Given the description of an element on the screen output the (x, y) to click on. 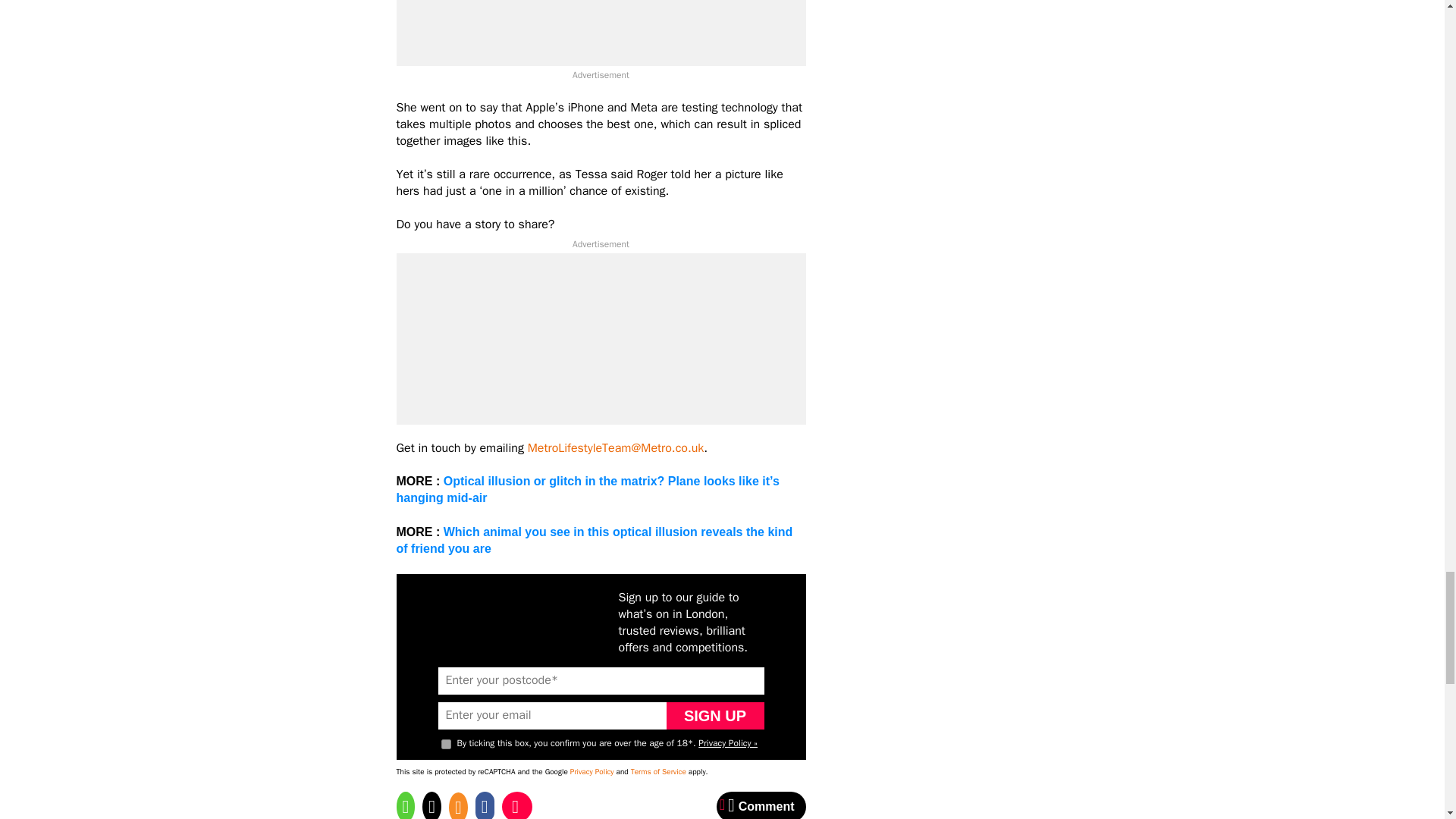
true (446, 744)
